Given the description of an element on the screen output the (x, y) to click on. 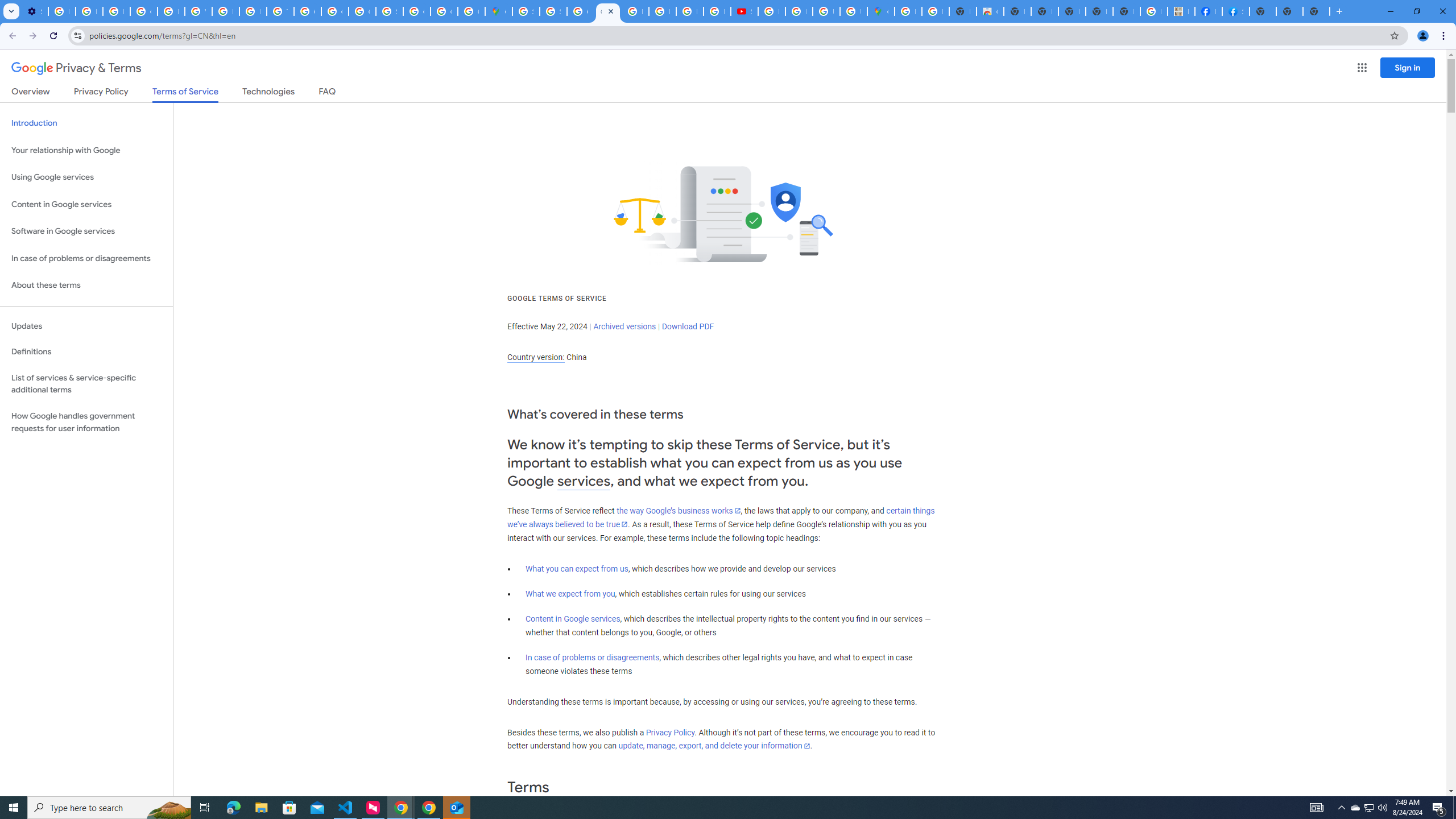
YouTube (197, 11)
